Given the description of an element on the screen output the (x, y) to click on. 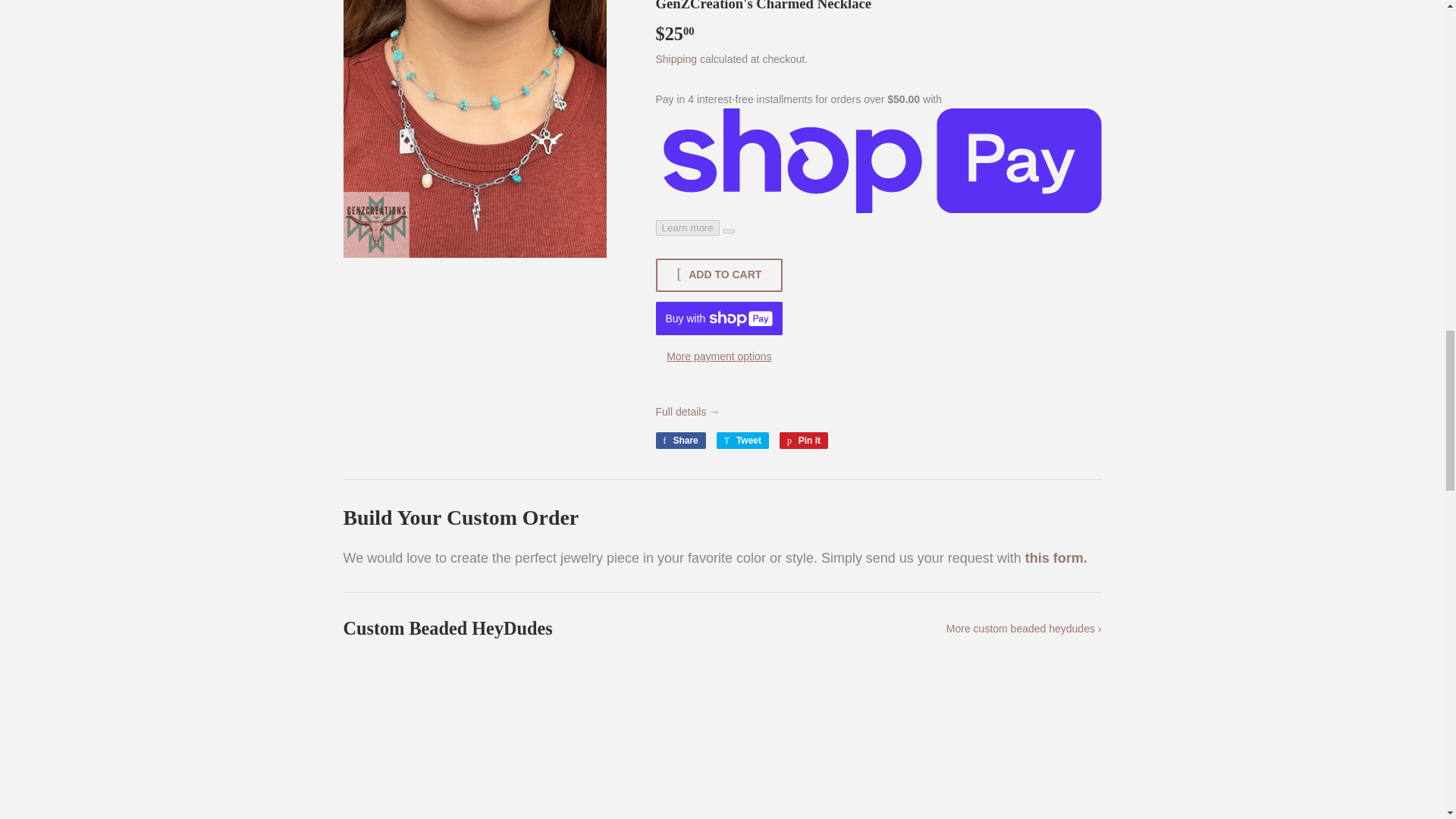
Tweet on Twitter (742, 440)
Pin on Pinterest (803, 440)
Share on Facebook (679, 440)
